Given the description of an element on the screen output the (x, y) to click on. 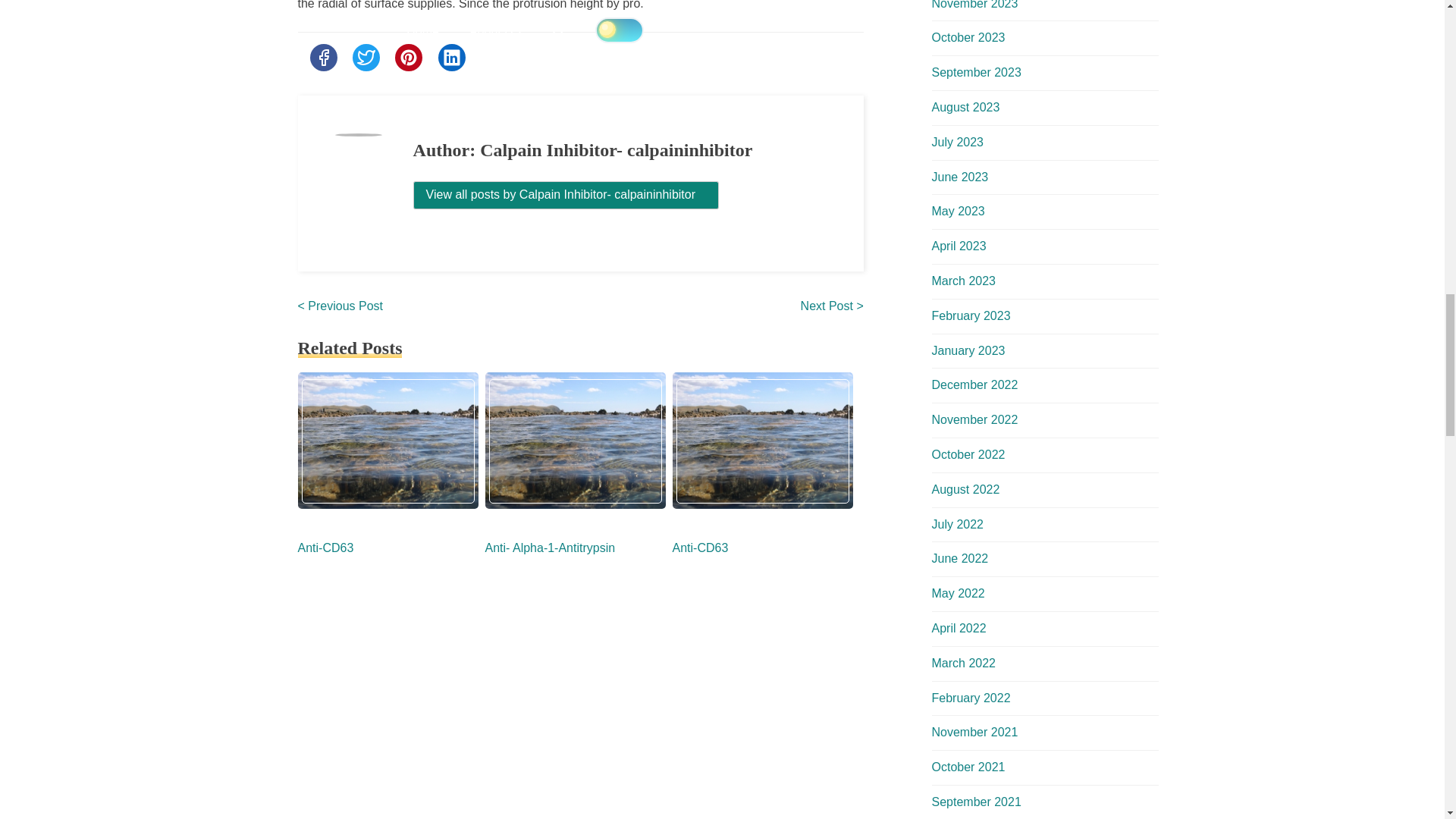
Share this post on Facebook (322, 57)
Share this post on Pinterest (408, 57)
Anti-CD63 (325, 547)
Share this post on Linkedin (451, 57)
Share this post on Twitter (366, 57)
Anti- Alpha-1-Antitrypsin (549, 547)
View all posts by Calpain Inhibitor- calpaininhibitor (566, 194)
Anti-CD63 (699, 547)
View all posts by Calpain Inhibitor- calpaininhibitor (566, 194)
